Given the description of an element on the screen output the (x, y) to click on. 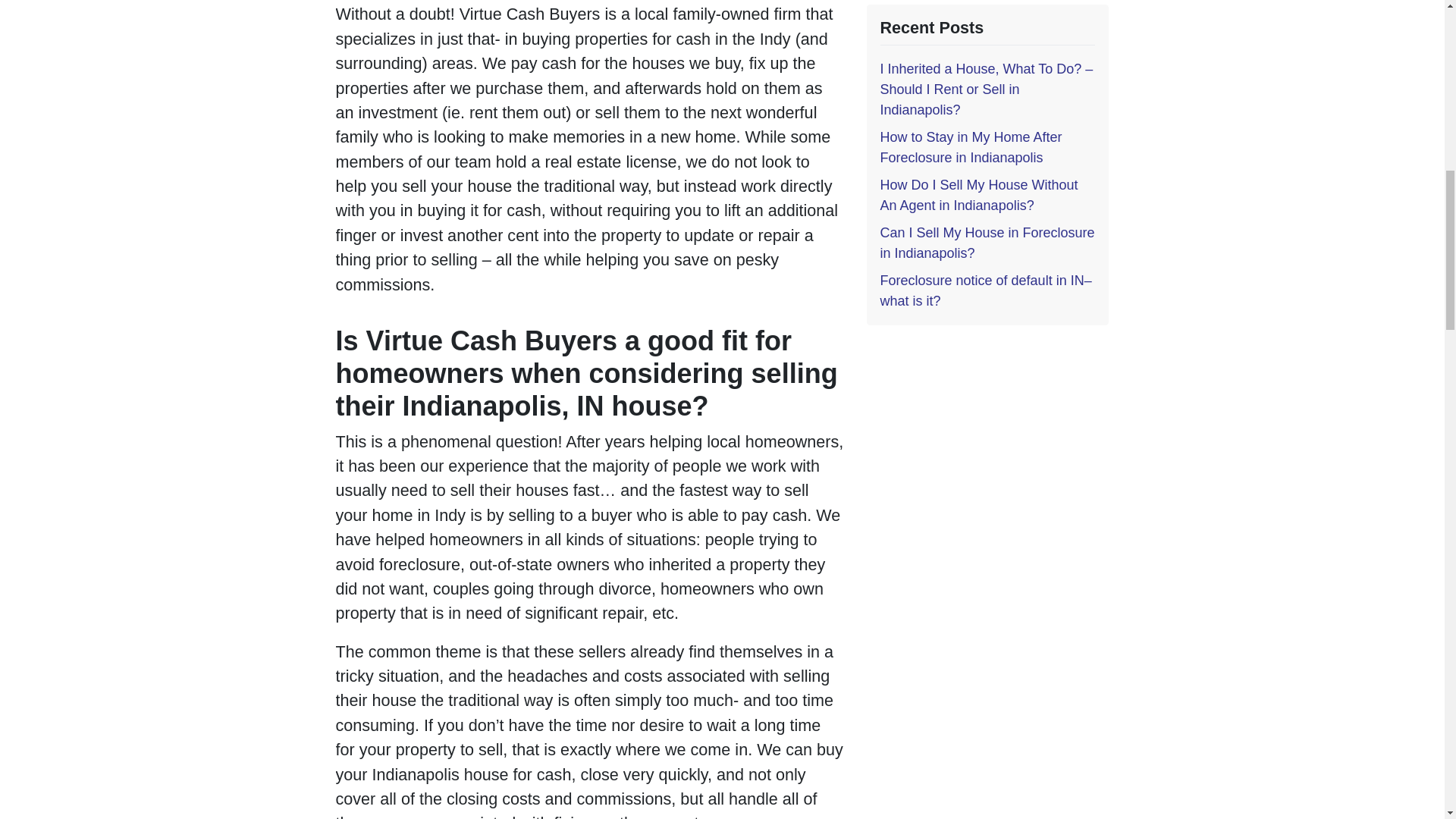
How Do I Sell My House Without An Agent in Indianapolis? (978, 194)
How to Stay in My Home After Foreclosure in Indianapolis (970, 147)
Can I Sell My House in Foreclosure in Indianapolis? (986, 243)
